Given the description of an element on the screen output the (x, y) to click on. 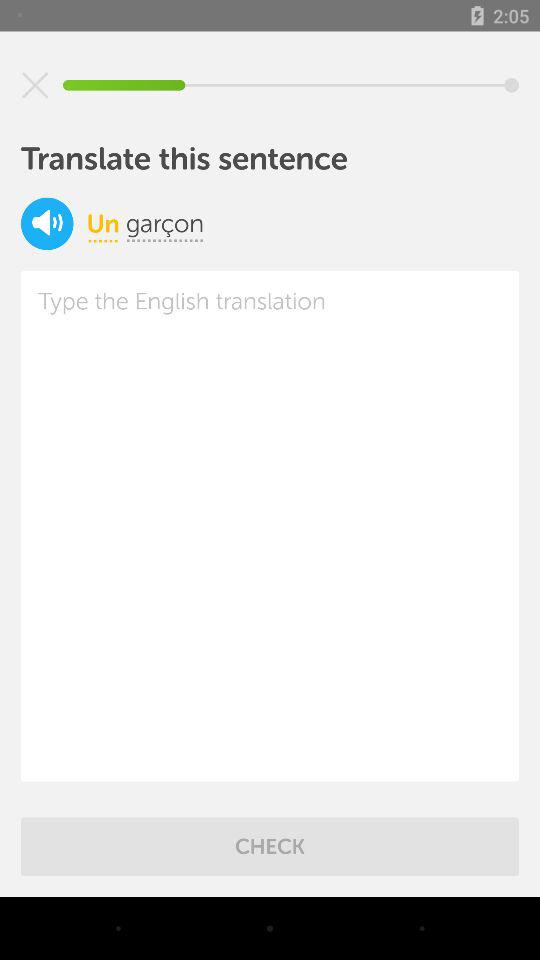
translate the text (270, 526)
